Given the description of an element on the screen output the (x, y) to click on. 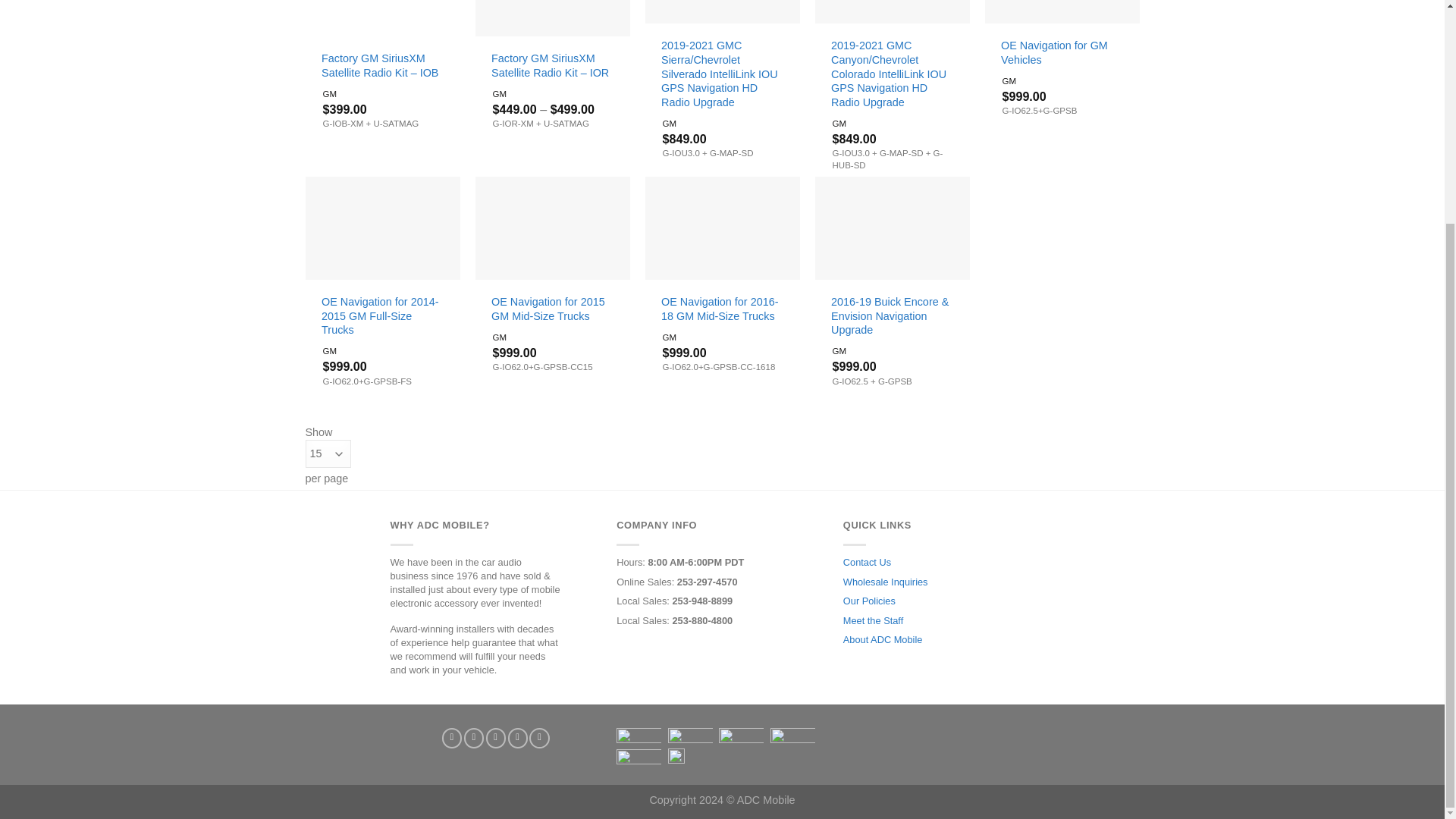
Follow on Instagram (473, 738)
Follow on Facebook (517, 738)
Follow on LinkedIn (538, 738)
Follow on Twitter (495, 738)
Follow on YouTube (451, 738)
